Given the description of an element on the screen output the (x, y) to click on. 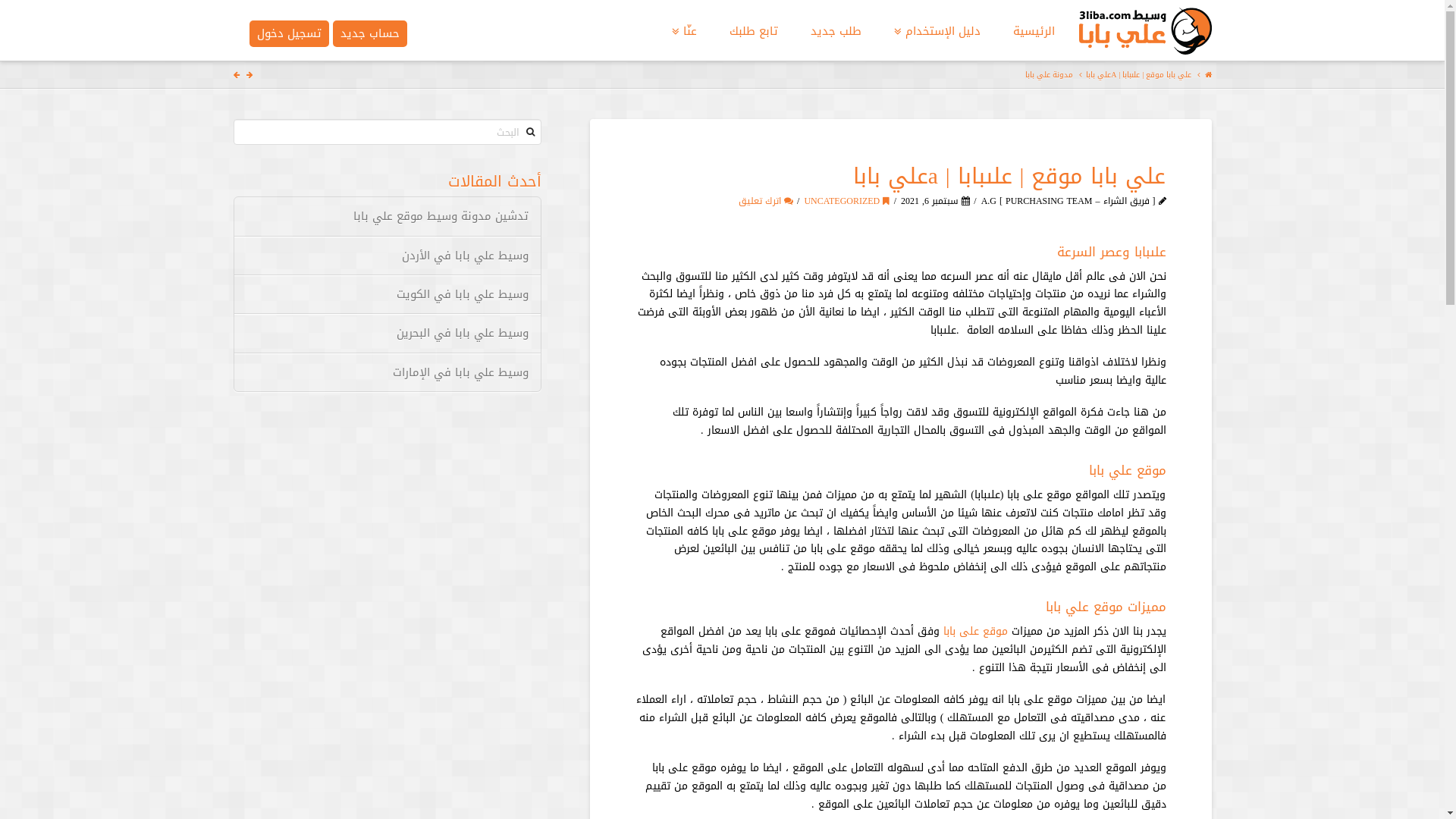
UNCATEGORIZED Element type: text (846, 200)
